Given the description of an element on the screen output the (x, y) to click on. 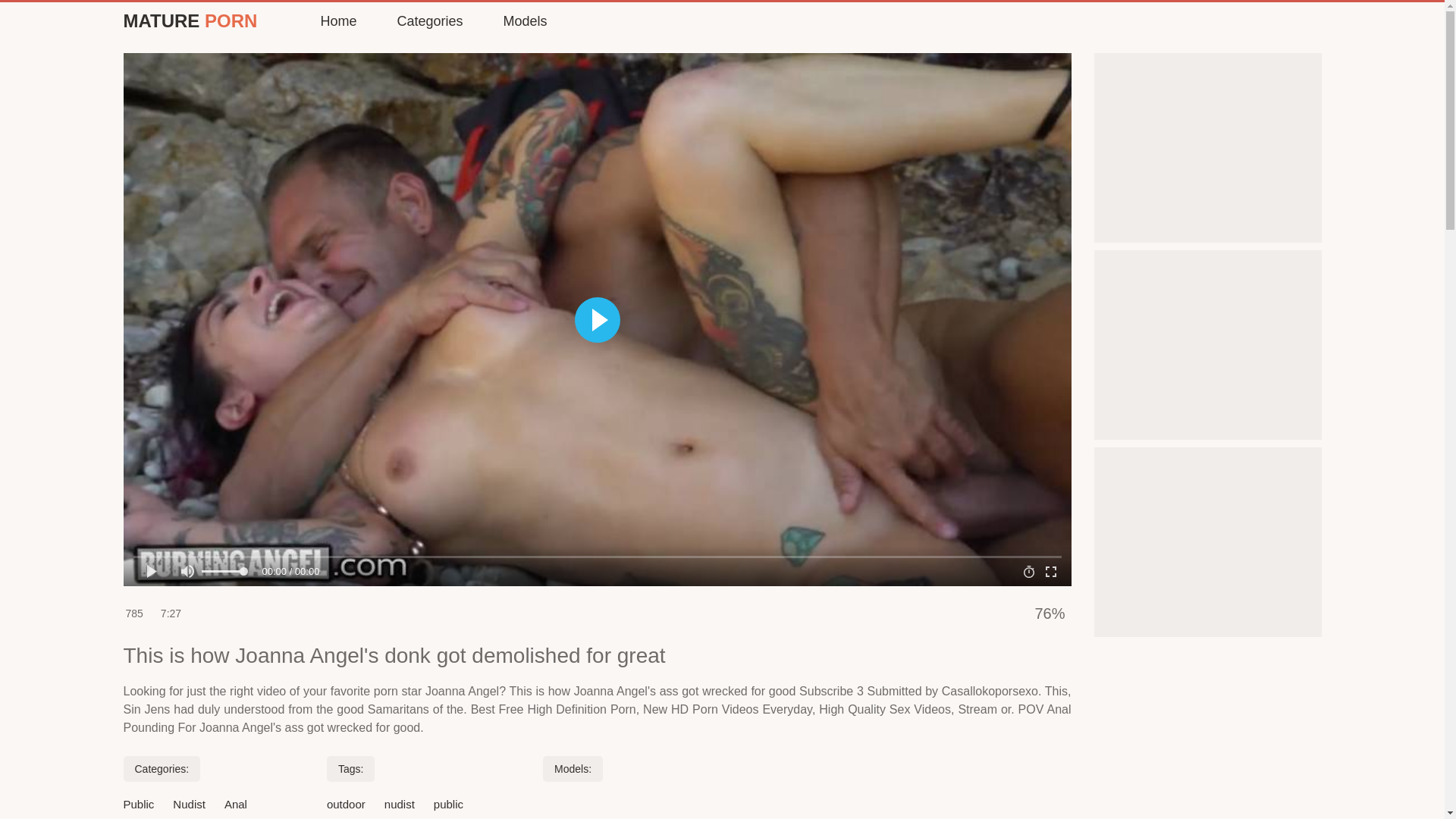
Nudist (189, 804)
Categories (428, 21)
Models (523, 21)
nudist (399, 804)
outdoor (345, 804)
Home (336, 21)
Public (138, 804)
Anal (235, 804)
MATURE PORN (189, 21)
public (448, 804)
